Given the description of an element on the screen output the (x, y) to click on. 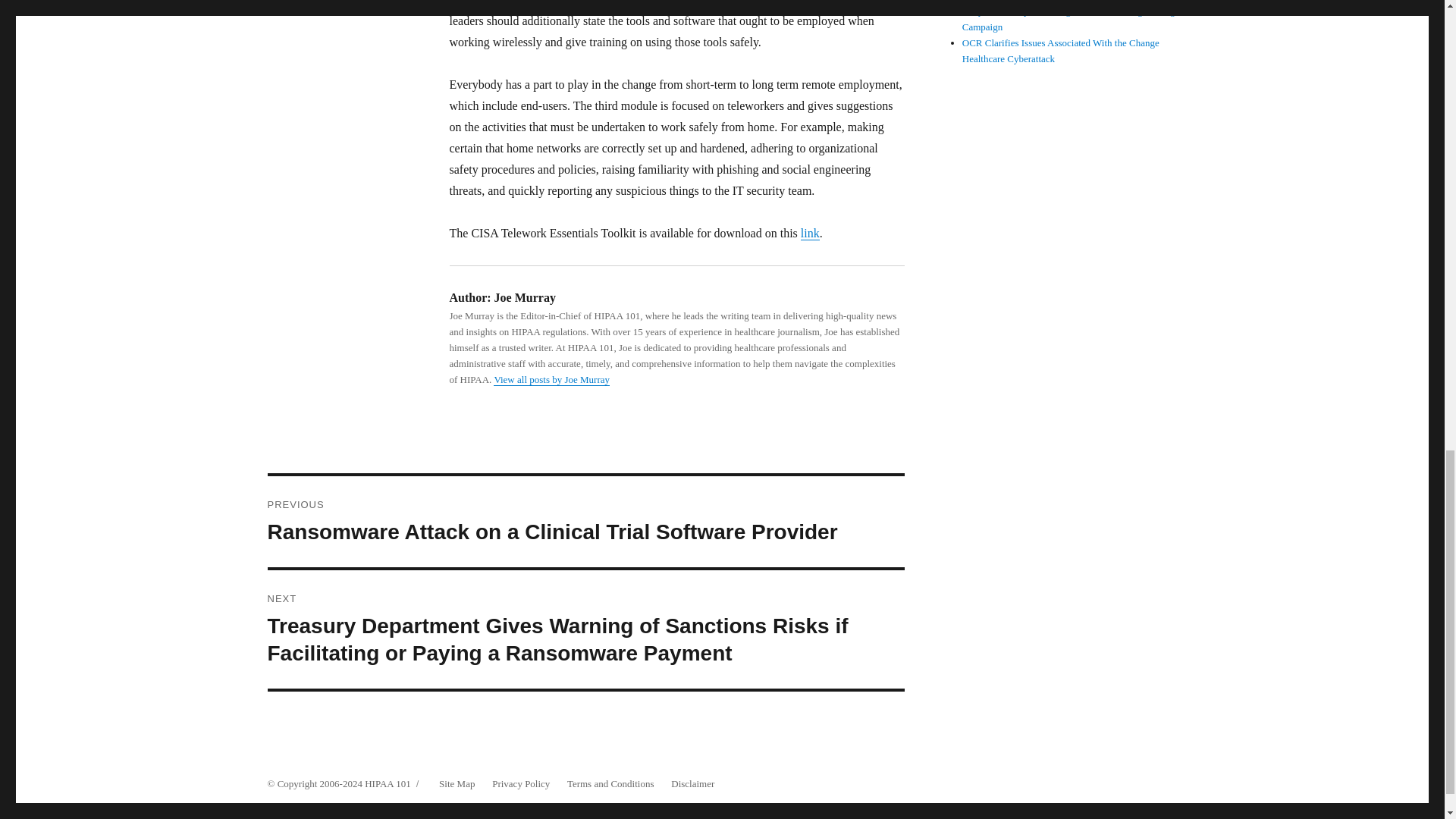
link (809, 232)
View all posts by Joe Murray (551, 378)
